Given the description of an element on the screen output the (x, y) to click on. 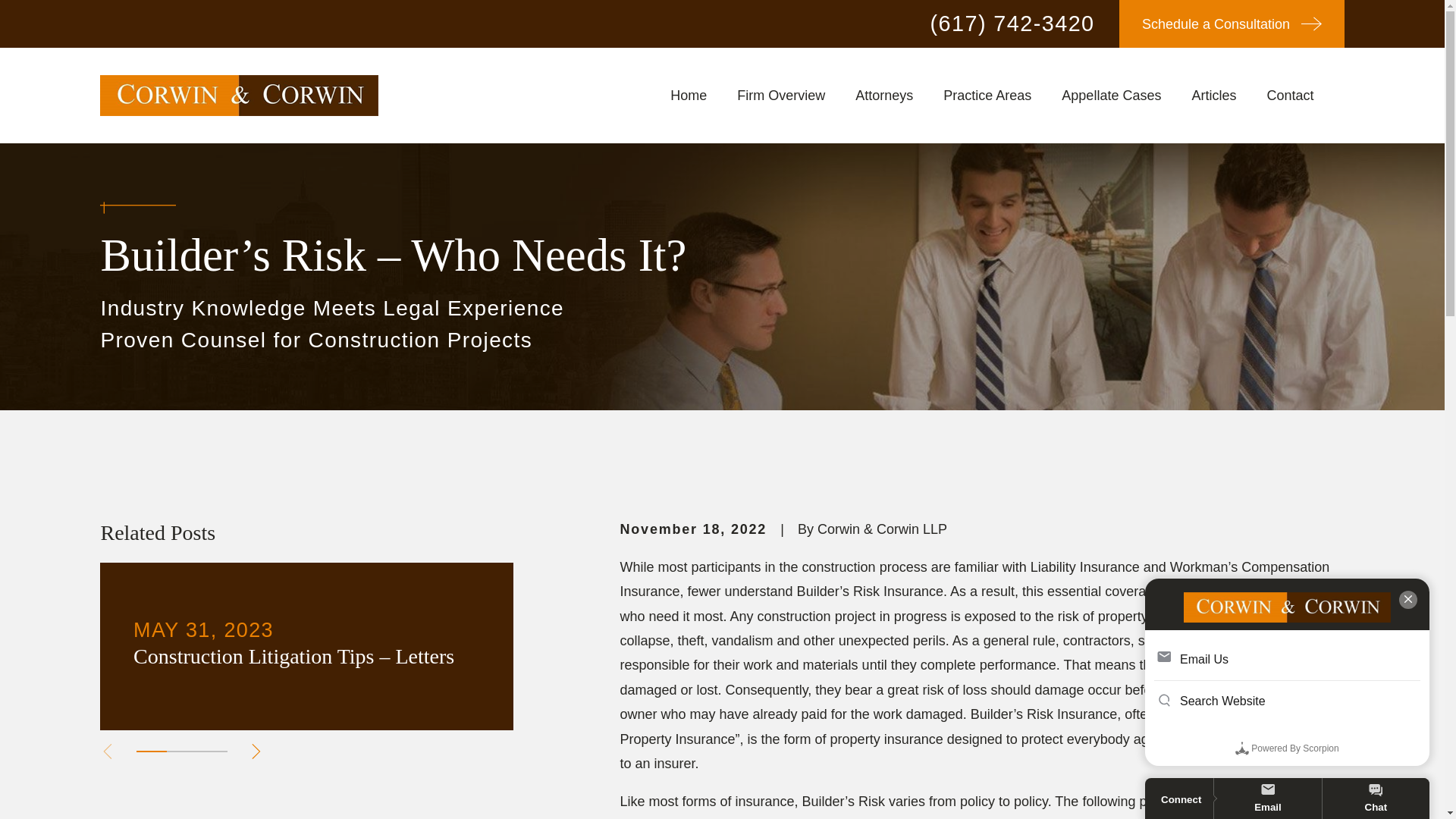
Home (239, 95)
View Item 1 (151, 751)
Attorneys (884, 95)
View Item 3 (211, 751)
Practice Areas (986, 95)
Schedule a Consultation (1231, 23)
Contact (1289, 95)
Firm Overview (780, 95)
Appellate Cases (1110, 95)
View next item (255, 751)
